Given the description of an element on the screen output the (x, y) to click on. 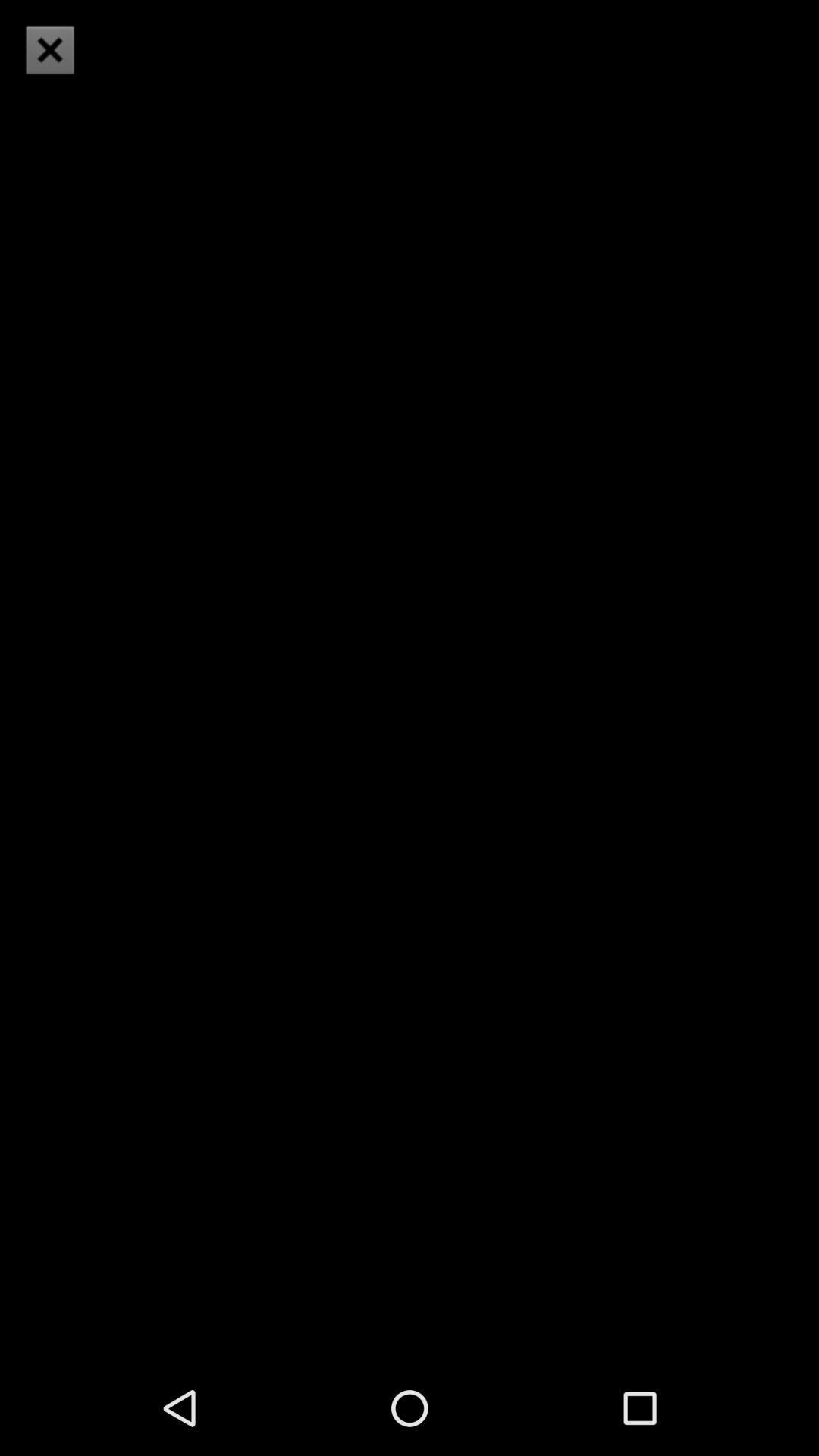
choose the item at the top left corner (49, 49)
